Given the description of an element on the screen output the (x, y) to click on. 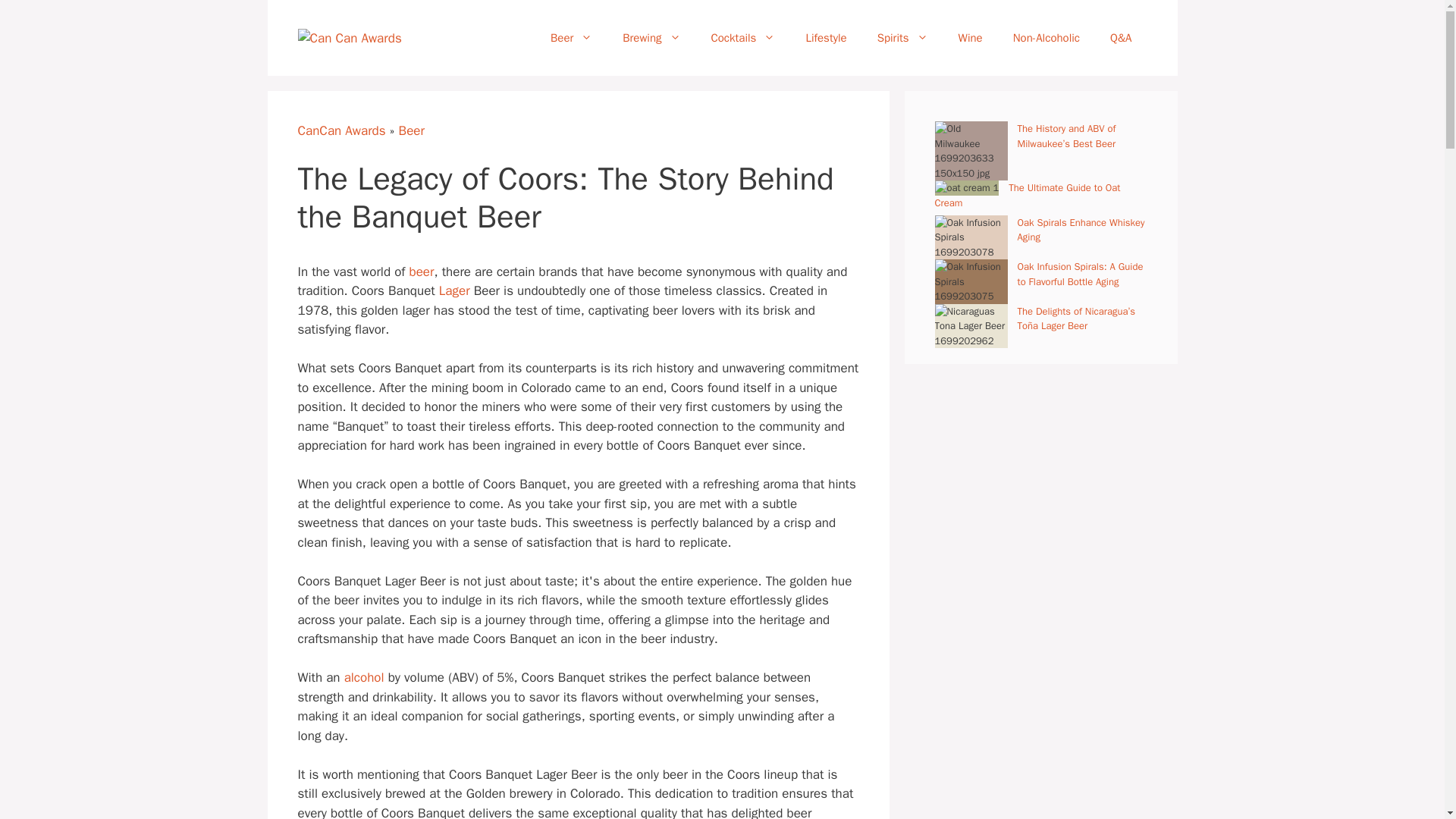
Lifestyle (825, 37)
The History and ABV of Milwaukee's Best Beer 1 (970, 150)
Wine (970, 37)
Spirits (902, 37)
Beer (571, 37)
Oak Infusion Spirals: A Guide to Flavorful Bottle Aging 4 (970, 281)
Non-Alcoholic (1045, 37)
The Ultimate Guide to Oat Cream 2 (966, 187)
Oak Spirals Enhance Whiskey Aging 3 (970, 237)
Brewing (651, 37)
Cocktails (742, 37)
